Given the description of an element on the screen output the (x, y) to click on. 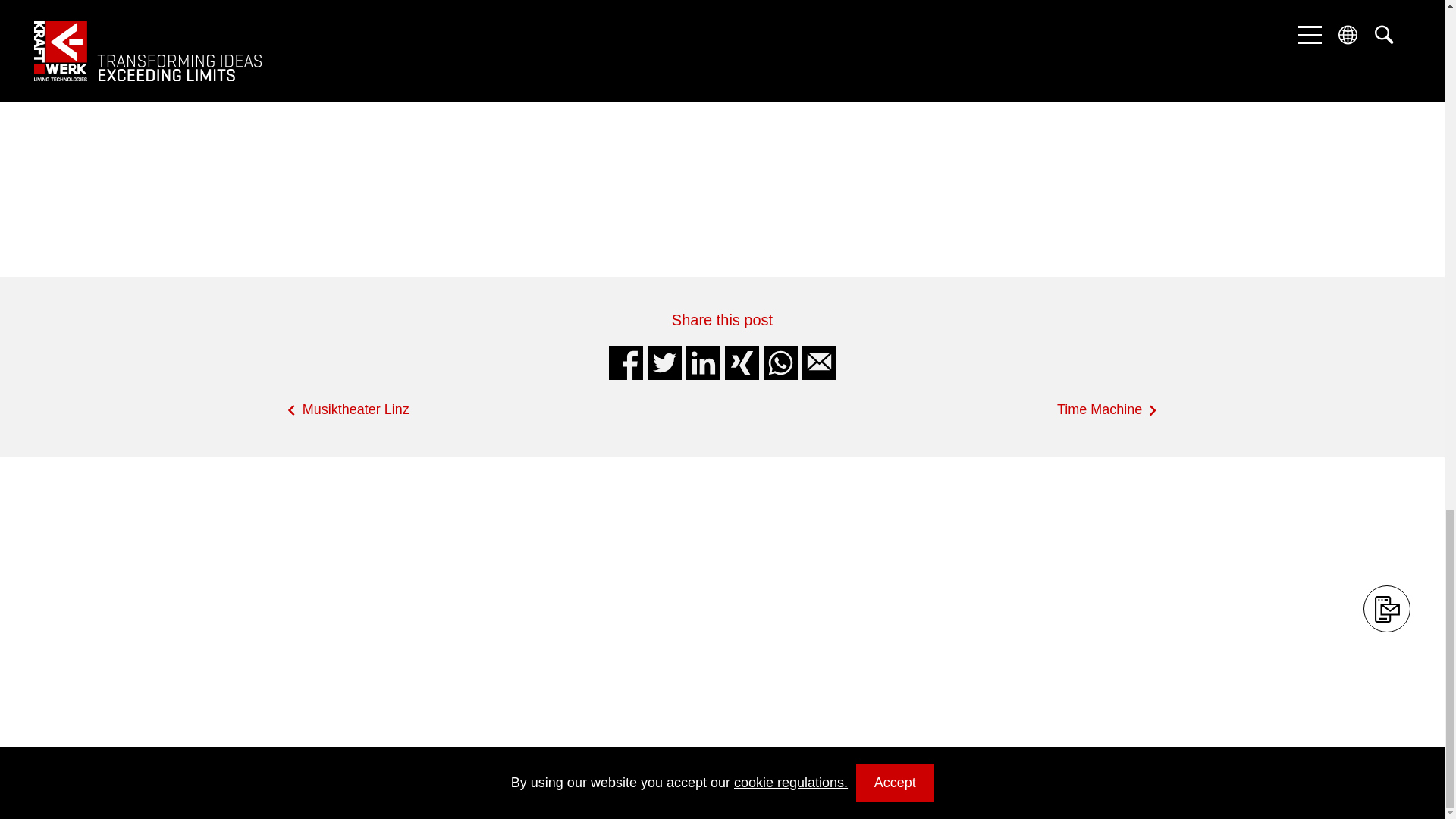
Share via Twitter (664, 362)
Share via Facebook (625, 362)
